Given the description of an element on the screen output the (x, y) to click on. 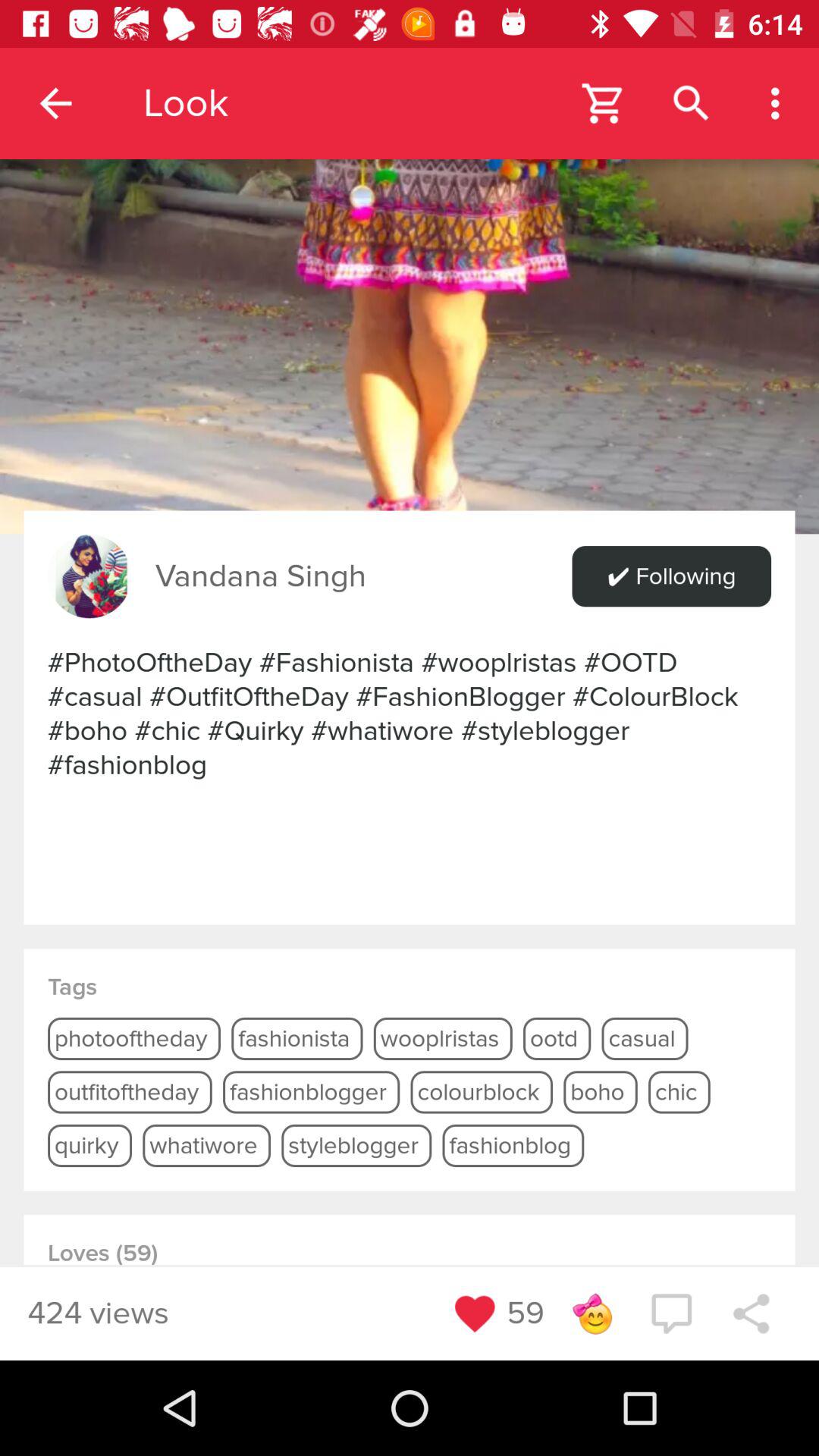
add comment (671, 1313)
